Given the description of an element on the screen output the (x, y) to click on. 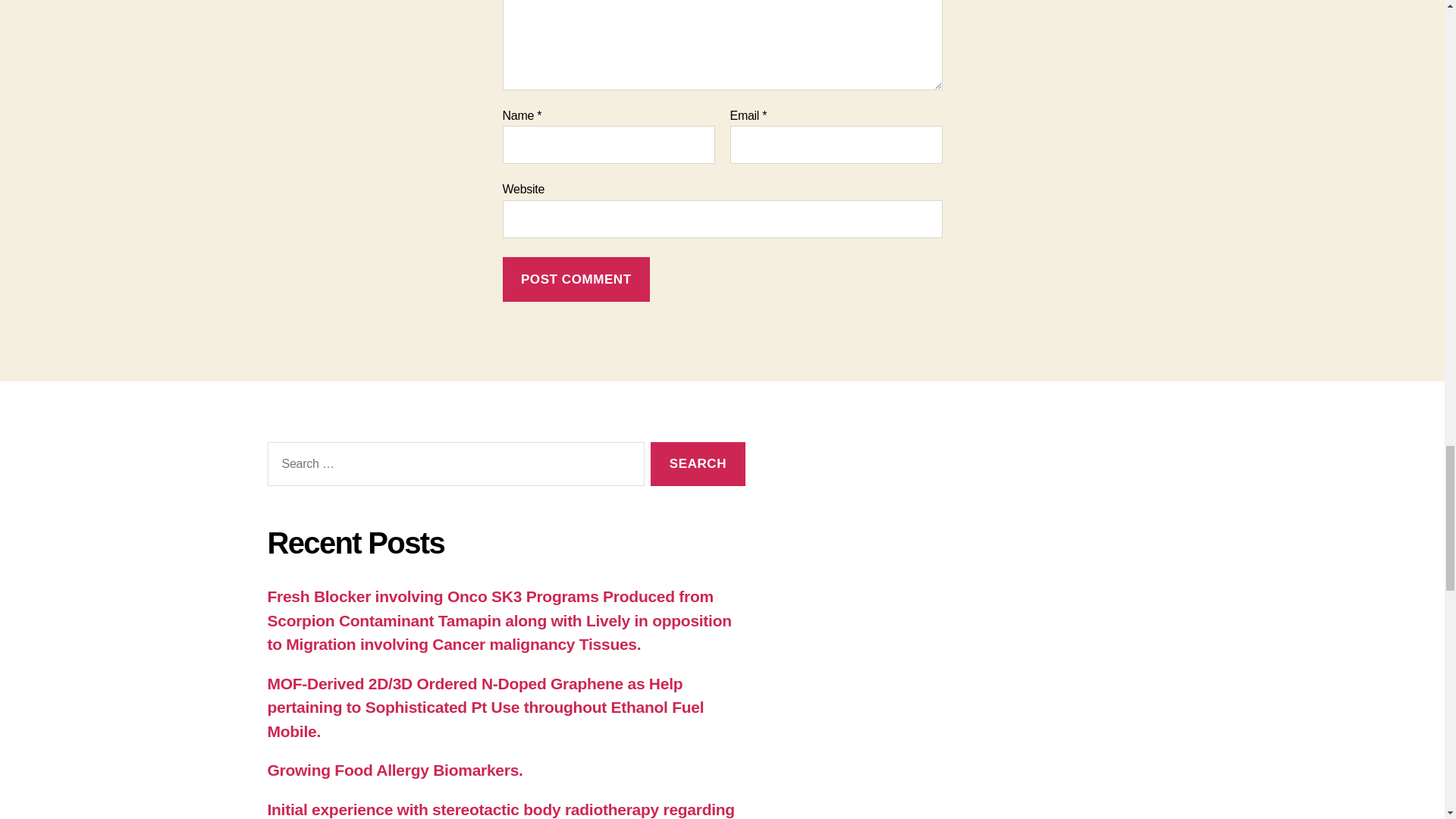
Search (697, 464)
Post Comment (575, 279)
Search (697, 464)
